Given the description of an element on the screen output the (x, y) to click on. 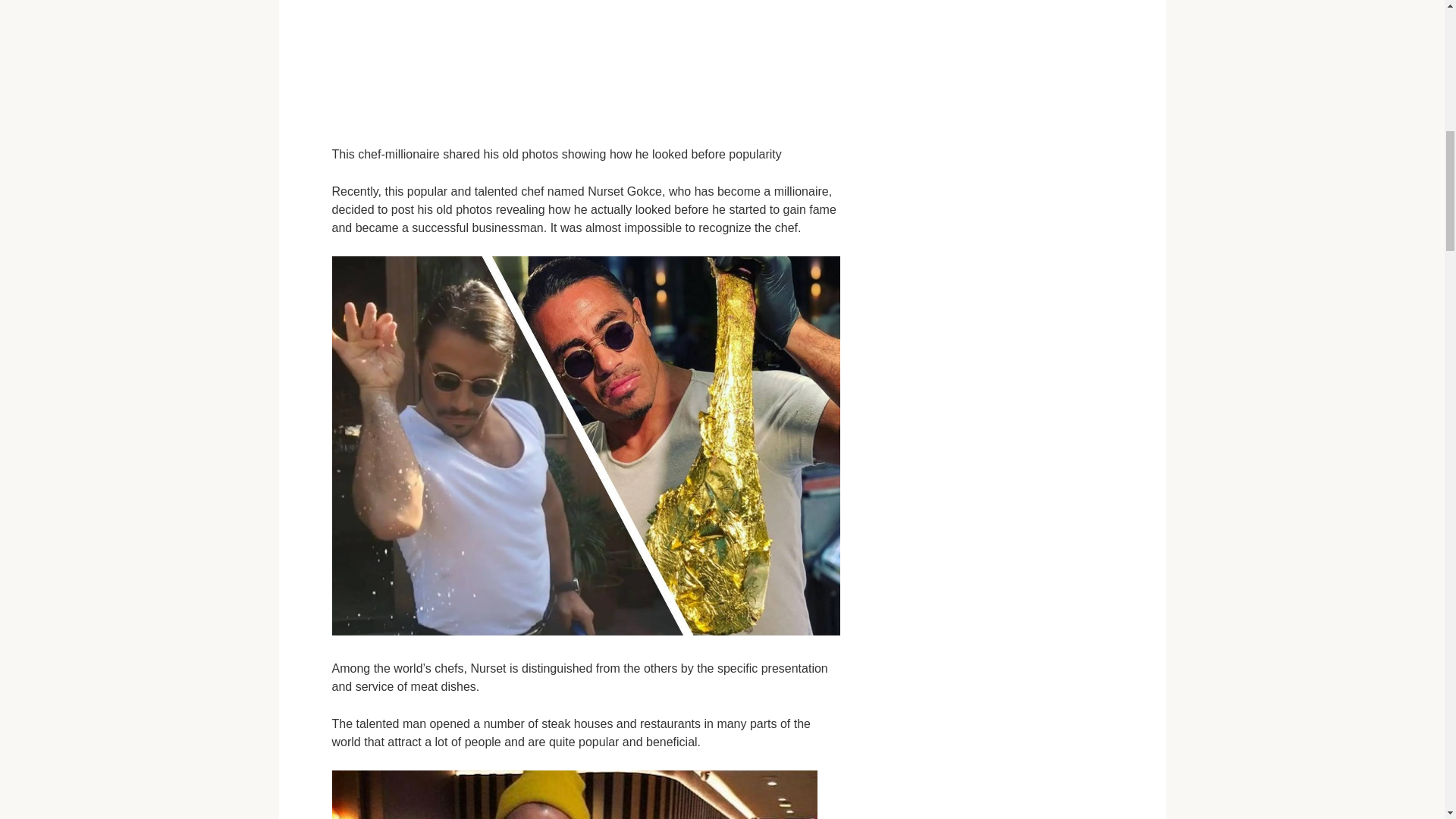
Advertisement (585, 63)
